Given the description of an element on the screen output the (x, y) to click on. 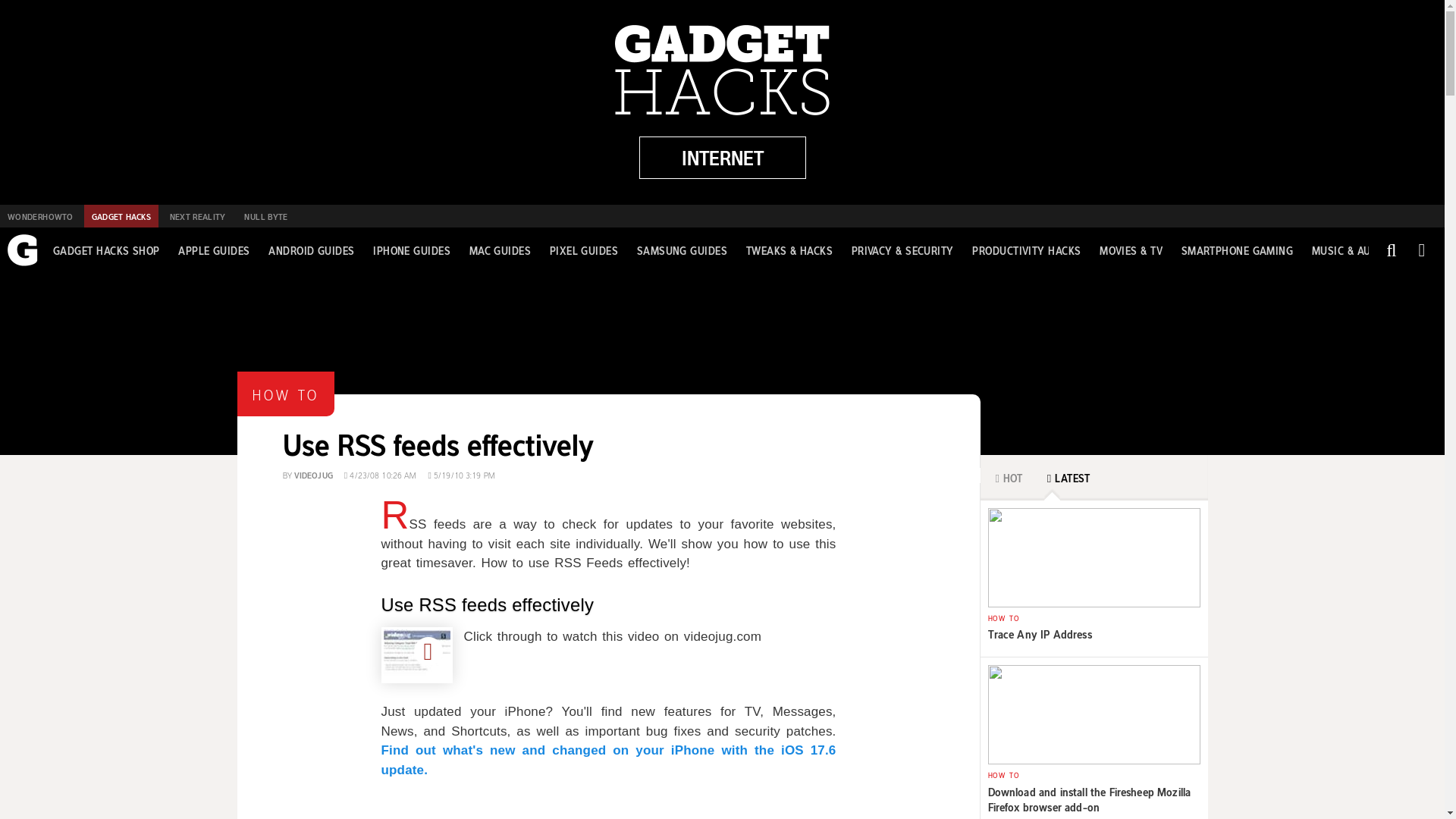
WONDERHOWTO (40, 215)
GADGET HACKS (121, 215)
APPLE GUIDES (608, 428)
ANDROID GUIDES (212, 249)
MAC GUIDES (310, 249)
NEXT REALITY (499, 249)
SMARTPHONE GAMING (196, 215)
Use RSS feeds effectively (1237, 249)
INTERNET (487, 604)
